Given the description of an element on the screen output the (x, y) to click on. 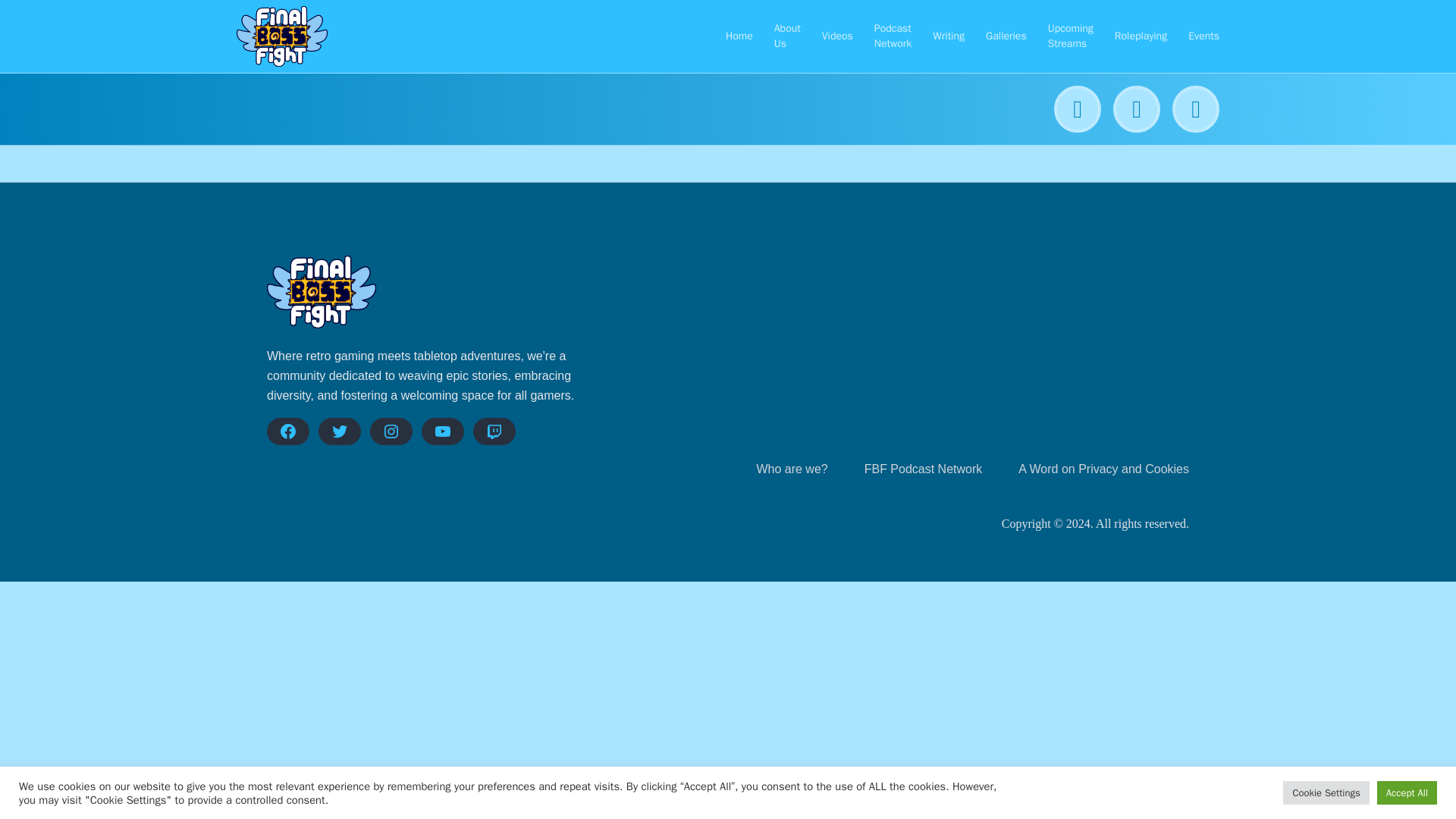
Instagram (390, 431)
YouTube (443, 431)
Roleplaying (1141, 35)
A Word on Privacy and Cookies (1103, 468)
Facebook (287, 431)
Who are we? (791, 468)
FBF Podcast Network (923, 468)
Twitter (339, 431)
Twitch (494, 431)
